Given the description of an element on the screen output the (x, y) to click on. 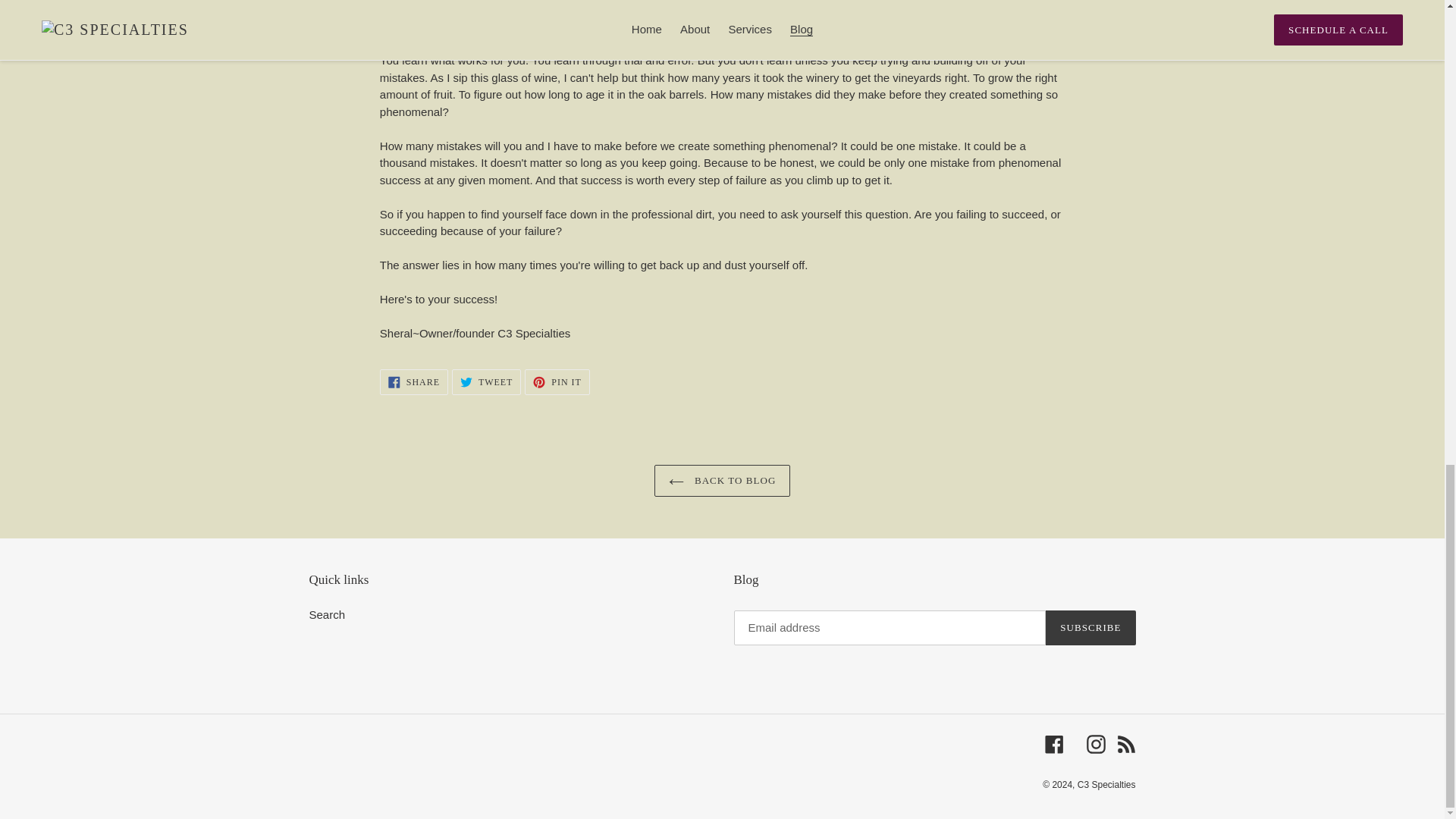
RSS (1125, 743)
Facebook (556, 381)
Search (1054, 743)
BACK TO BLOG (327, 614)
Instagram (486, 381)
SUBSCRIBE (721, 480)
C3 Specialties (414, 381)
